Given the description of an element on the screen output the (x, y) to click on. 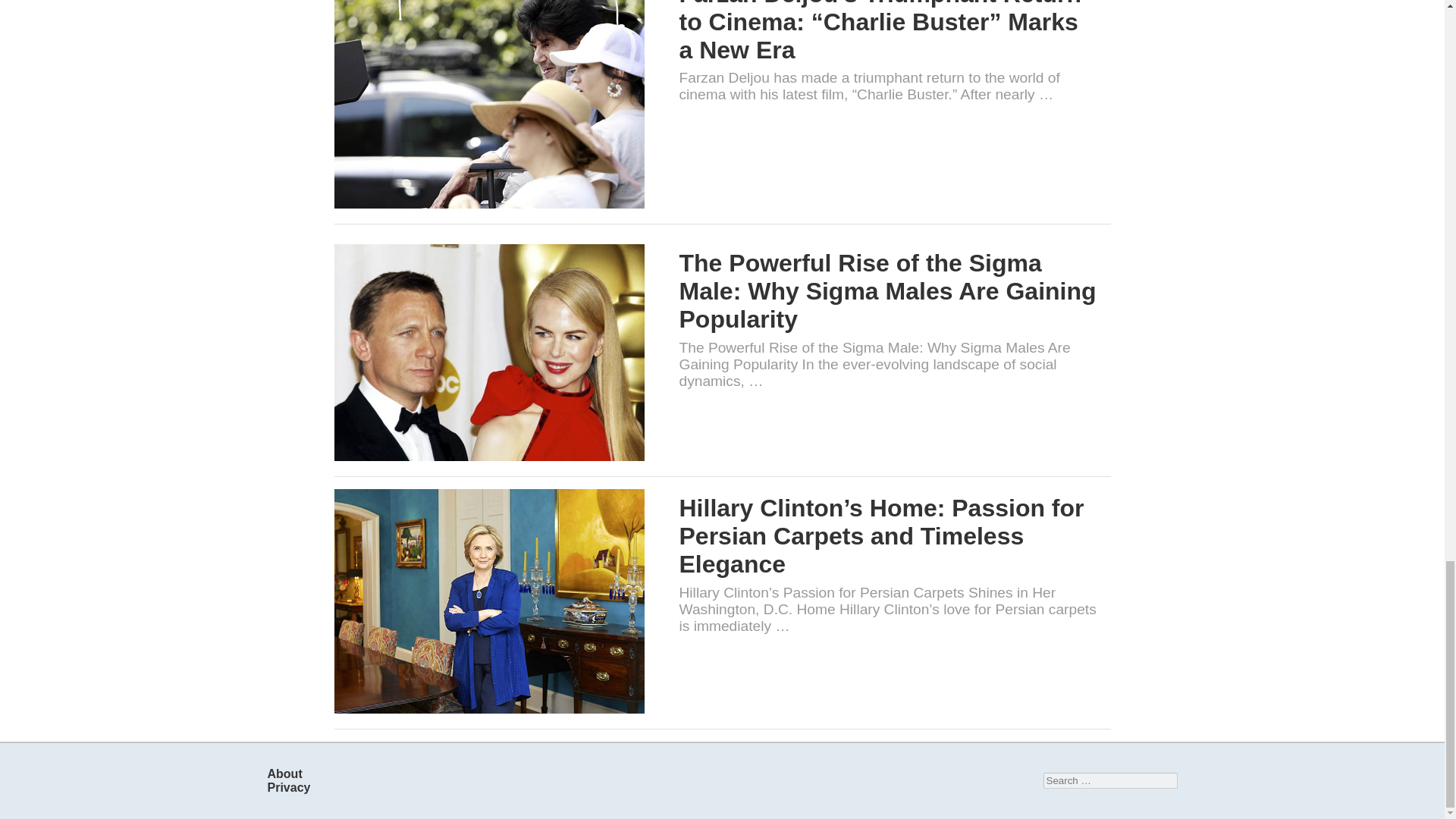
About (283, 773)
Privacy (288, 787)
